Given the description of an element on the screen output the (x, y) to click on. 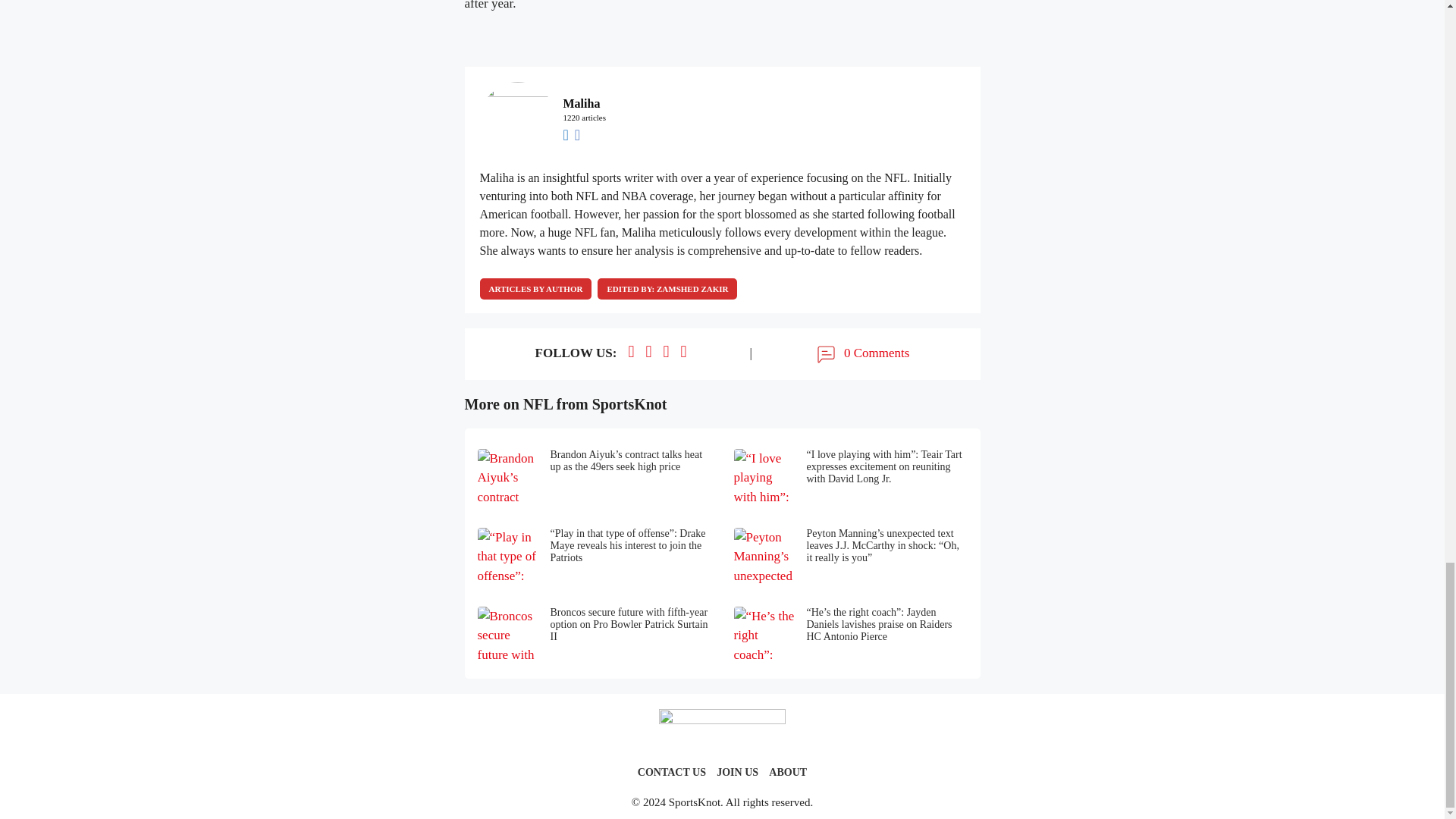
EDITED BY: ZAMSHED ZAKIR (666, 288)
ARTICLES BY AUTHOR (535, 288)
0 Comments (861, 353)
